Given the description of an element on the screen output the (x, y) to click on. 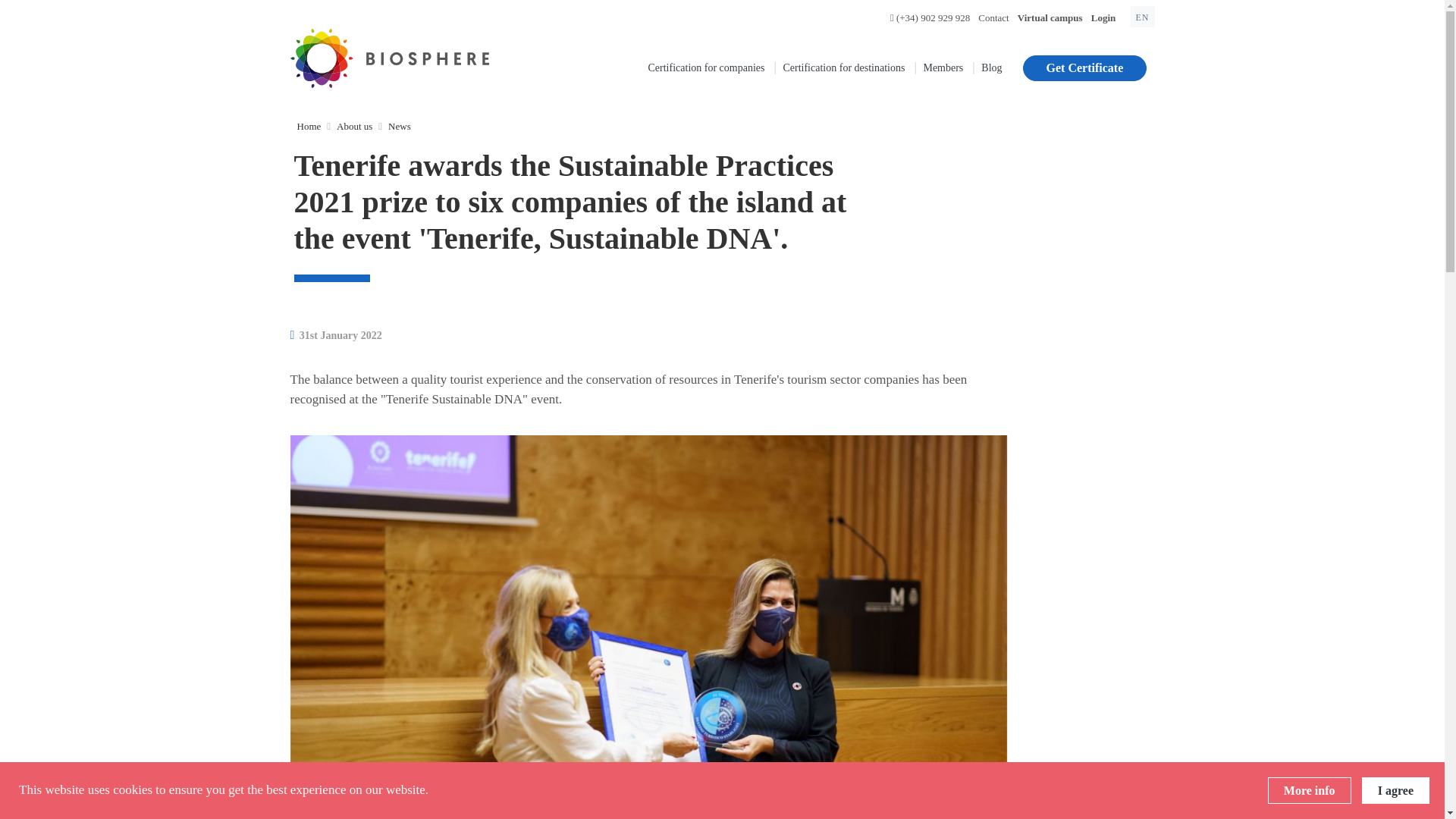
I agree (1395, 790)
31st January 2022 (335, 335)
Virtual campus (1050, 17)
Get Certificate (1085, 68)
Contact (993, 17)
News (399, 125)
Certification for destinations (843, 67)
Login (1103, 17)
Home (309, 125)
EN (1141, 16)
